Given the description of an element on the screen output the (x, y) to click on. 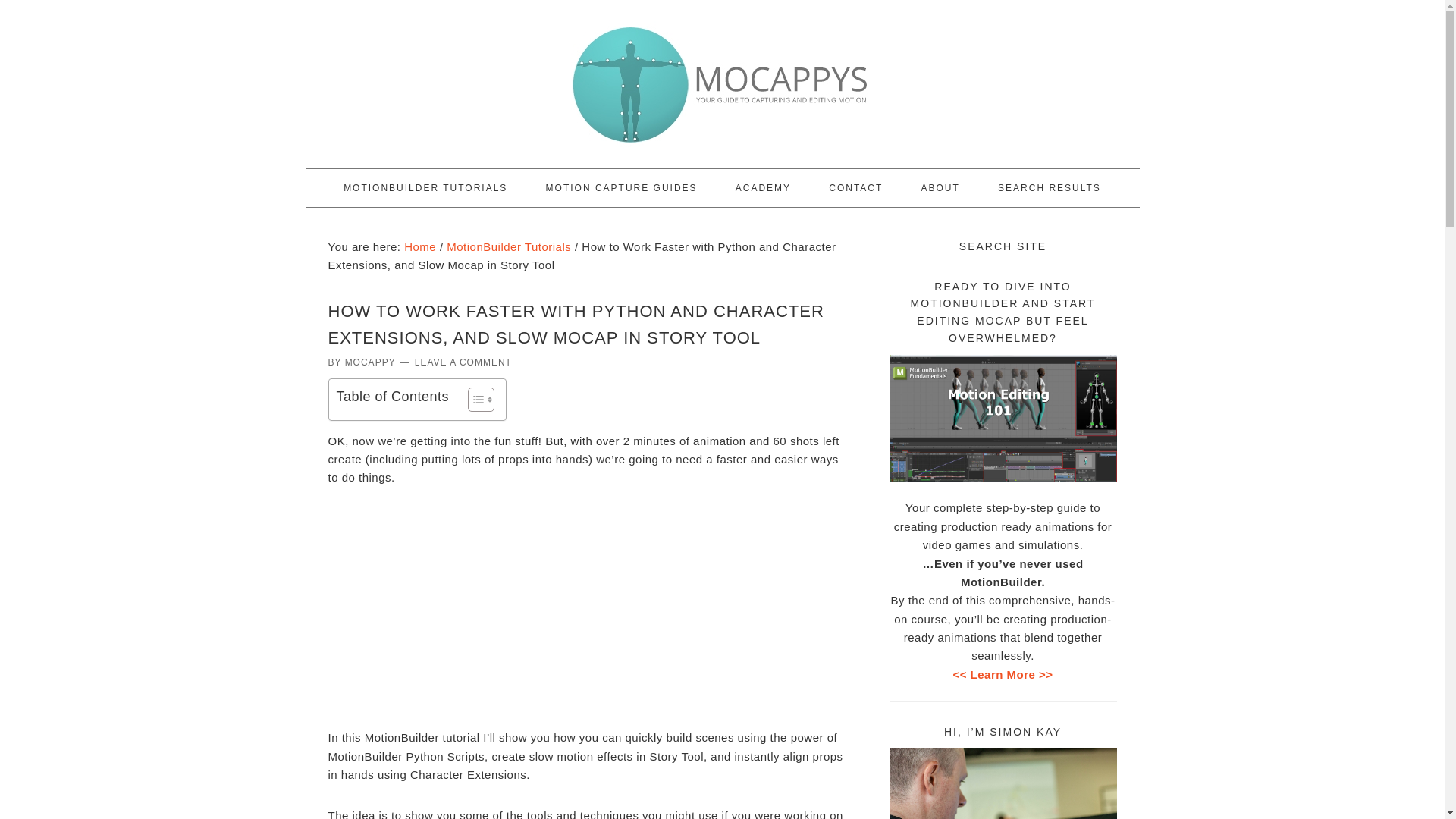
MOTIONBUILDER TUTORIALS (425, 187)
ACADEMY (763, 187)
MotionBuilder Tutorials (508, 246)
SEARCH RESULTS (1049, 187)
CONTACT (855, 187)
Home (419, 246)
ABOUT (940, 187)
LEAVE A COMMENT (463, 362)
MOTION CAPTURE GUIDES (621, 187)
